Given the description of an element on the screen output the (x, y) to click on. 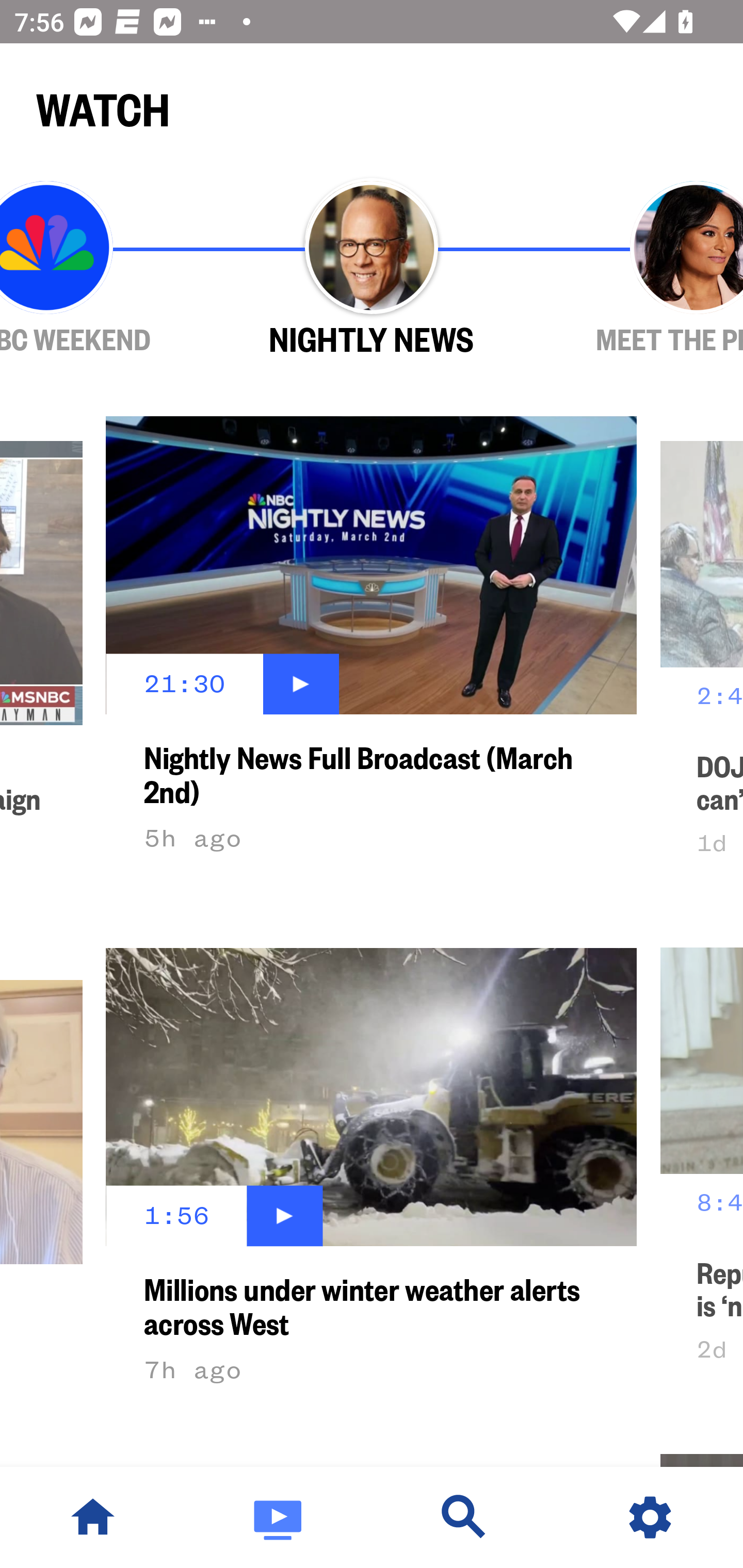
MSNBC WEEKEND (104, 268)
NIGHTLY NEWS (371, 268)
MEET THE PRESS (638, 268)
NBC News Home (92, 1517)
Discover (464, 1517)
Settings (650, 1517)
